Given the description of an element on the screen output the (x, y) to click on. 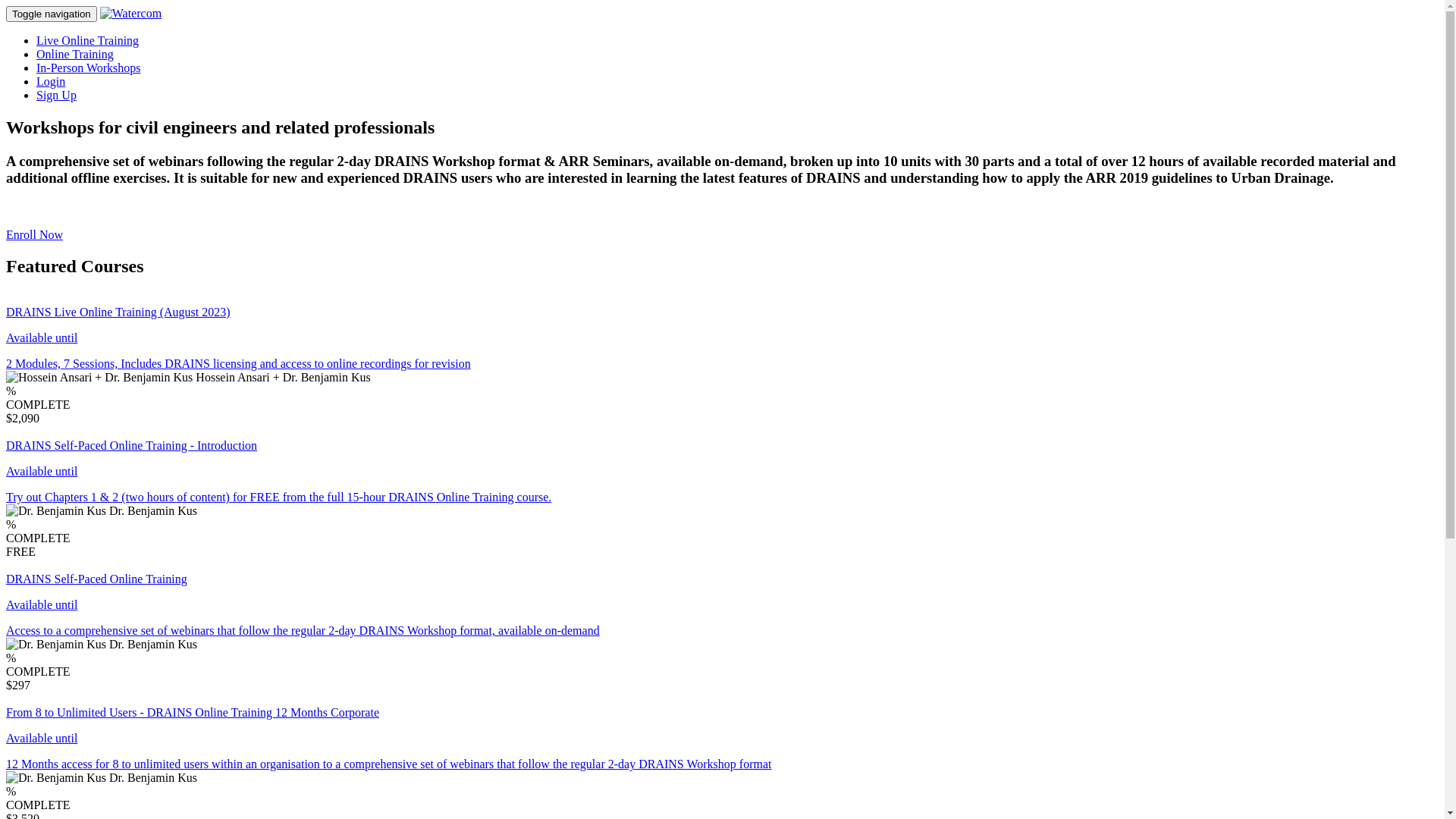
Online Training Element type: text (74, 53)
Enroll Now Element type: text (34, 234)
Login Element type: text (50, 81)
Live Online Training Element type: text (87, 40)
Toggle navigation Element type: text (51, 13)
Sign Up Element type: text (56, 94)
In-Person Workshops Element type: text (88, 67)
